Given the description of an element on the screen output the (x, y) to click on. 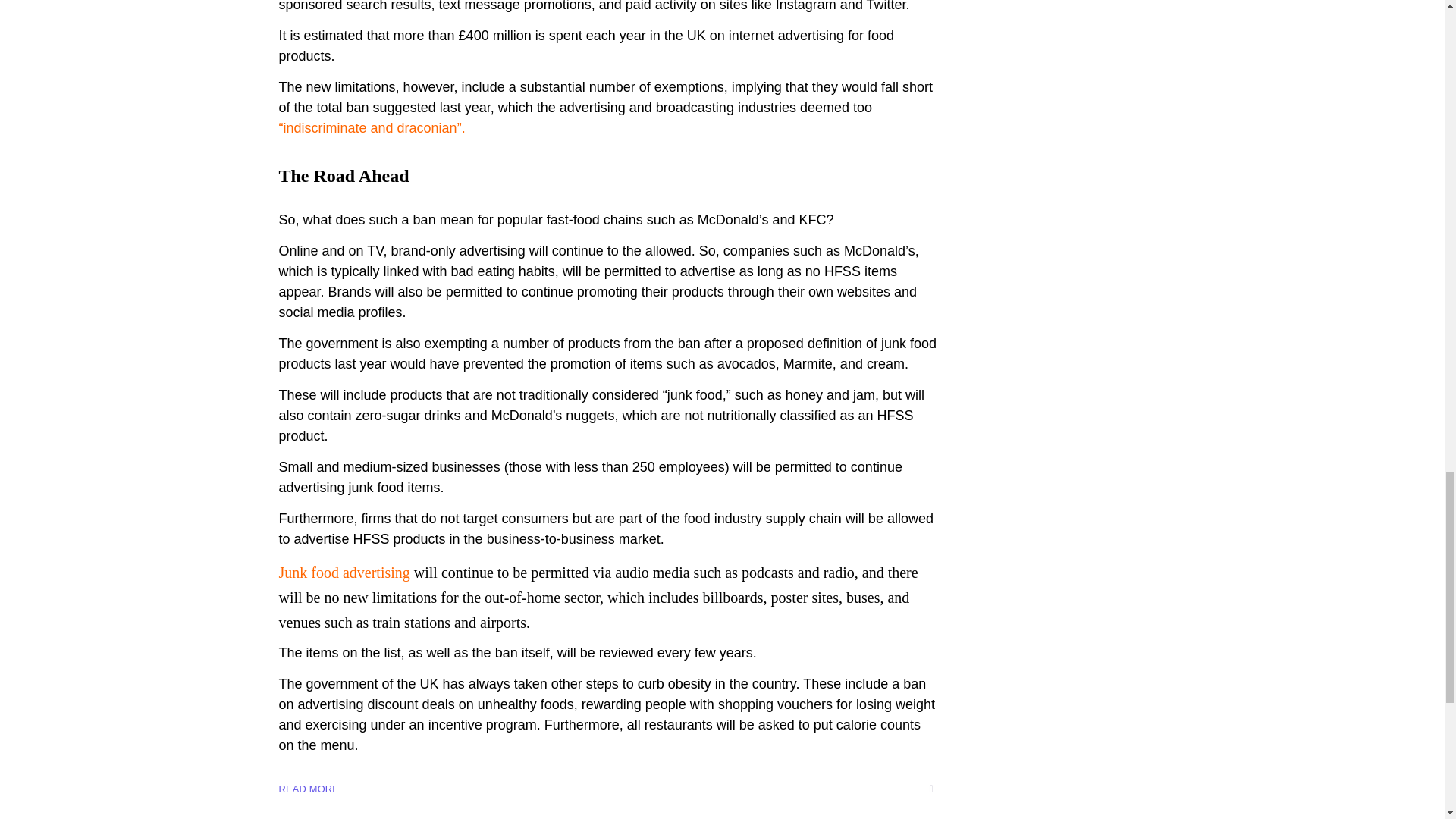
READ MORE (309, 788)
Junk food advertising (344, 572)
